Given the description of an element on the screen output the (x, y) to click on. 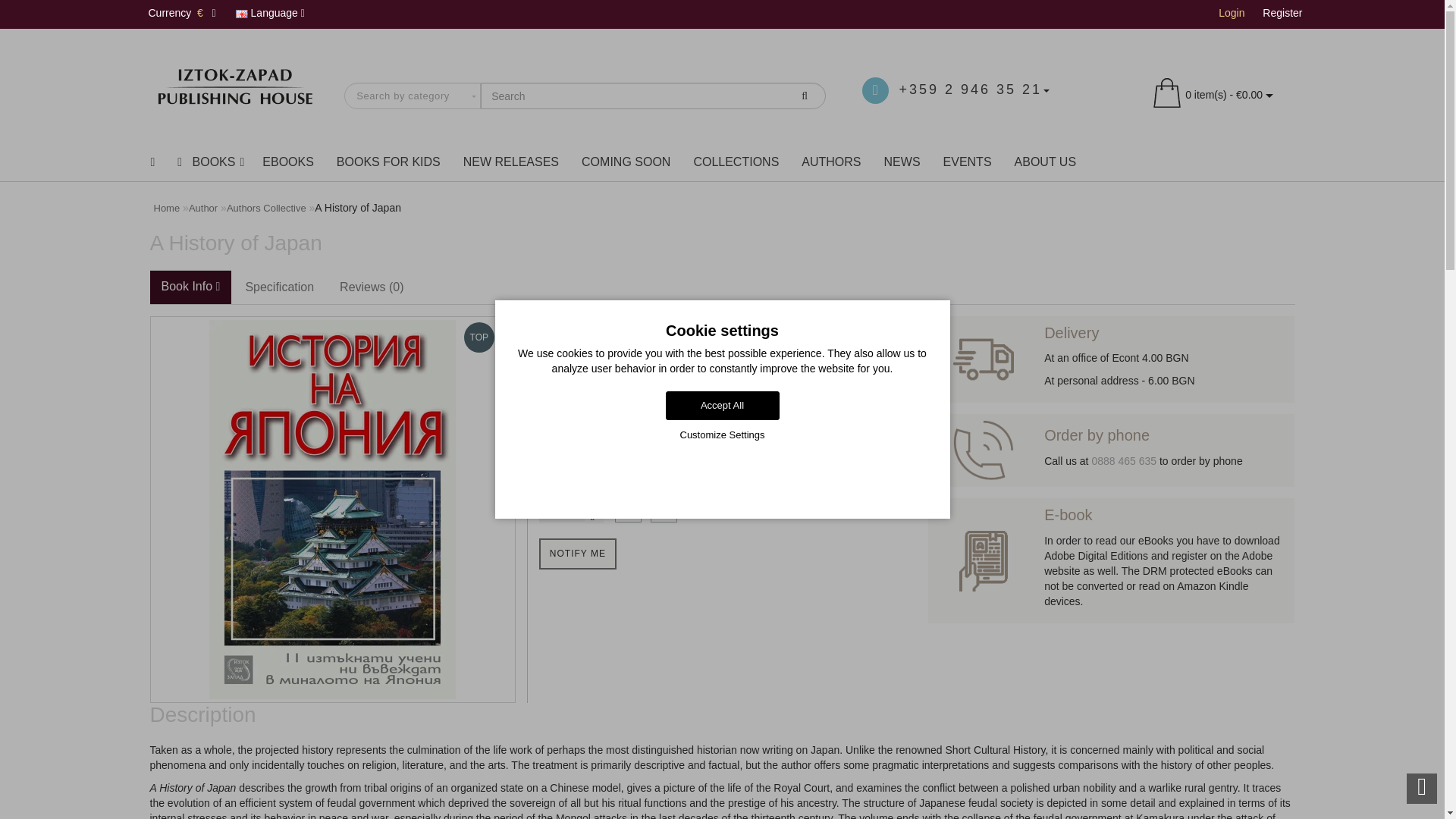
Language (269, 13)
   BOOKS (207, 161)
Login (1231, 12)
1 (561, 509)
cart (1166, 94)
English (241, 13)
Register (1281, 12)
A History of Japan (332, 509)
